Given the description of an element on the screen output the (x, y) to click on. 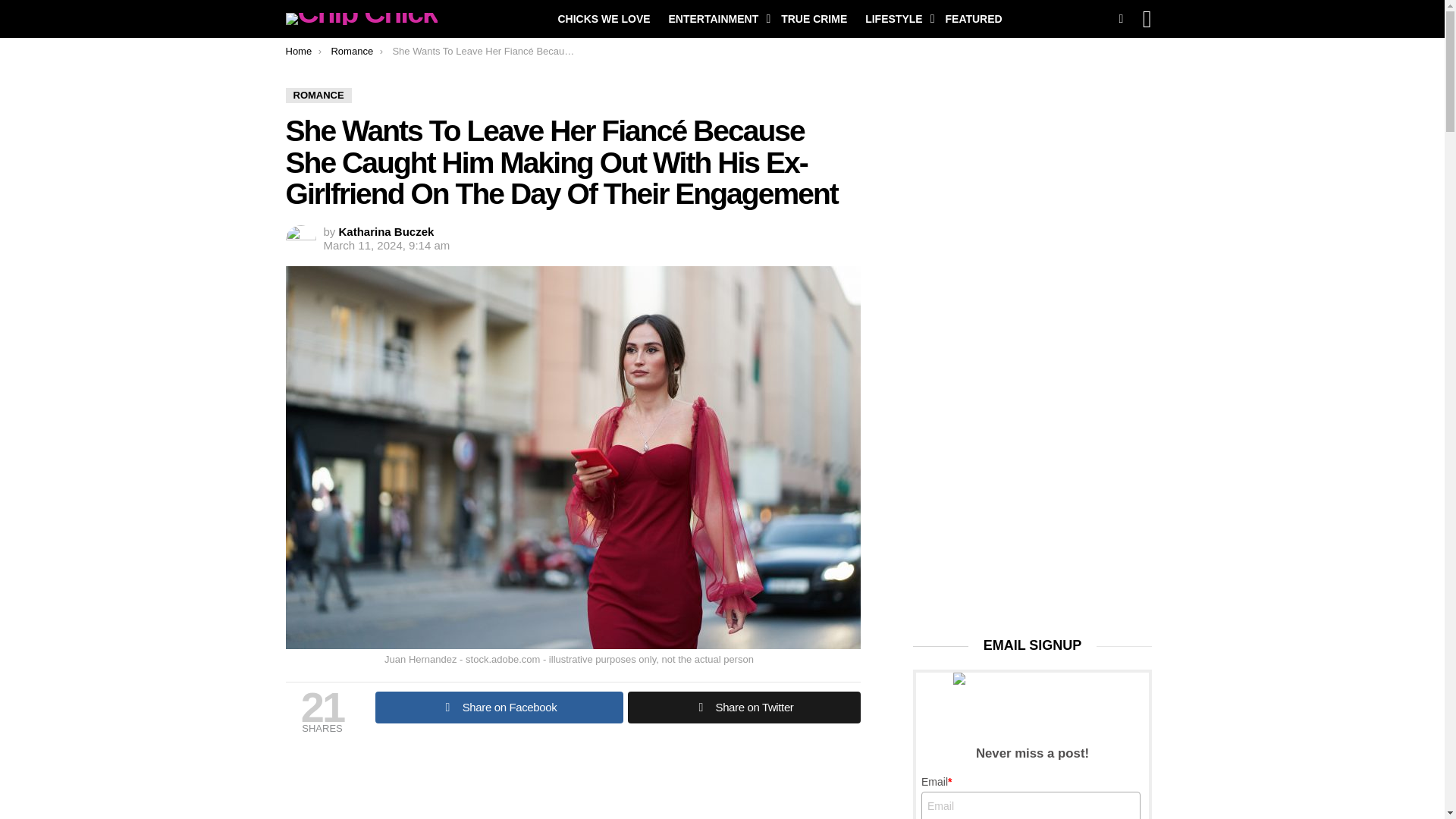
LIFESTYLE (895, 18)
Posts by Katharina Buczek (386, 231)
ENTERTAINMENT (716, 18)
Email (1030, 805)
CHICKS WE LOVE (604, 18)
TRUE CRIME (813, 18)
FEATURED (973, 18)
